Given the description of an element on the screen output the (x, y) to click on. 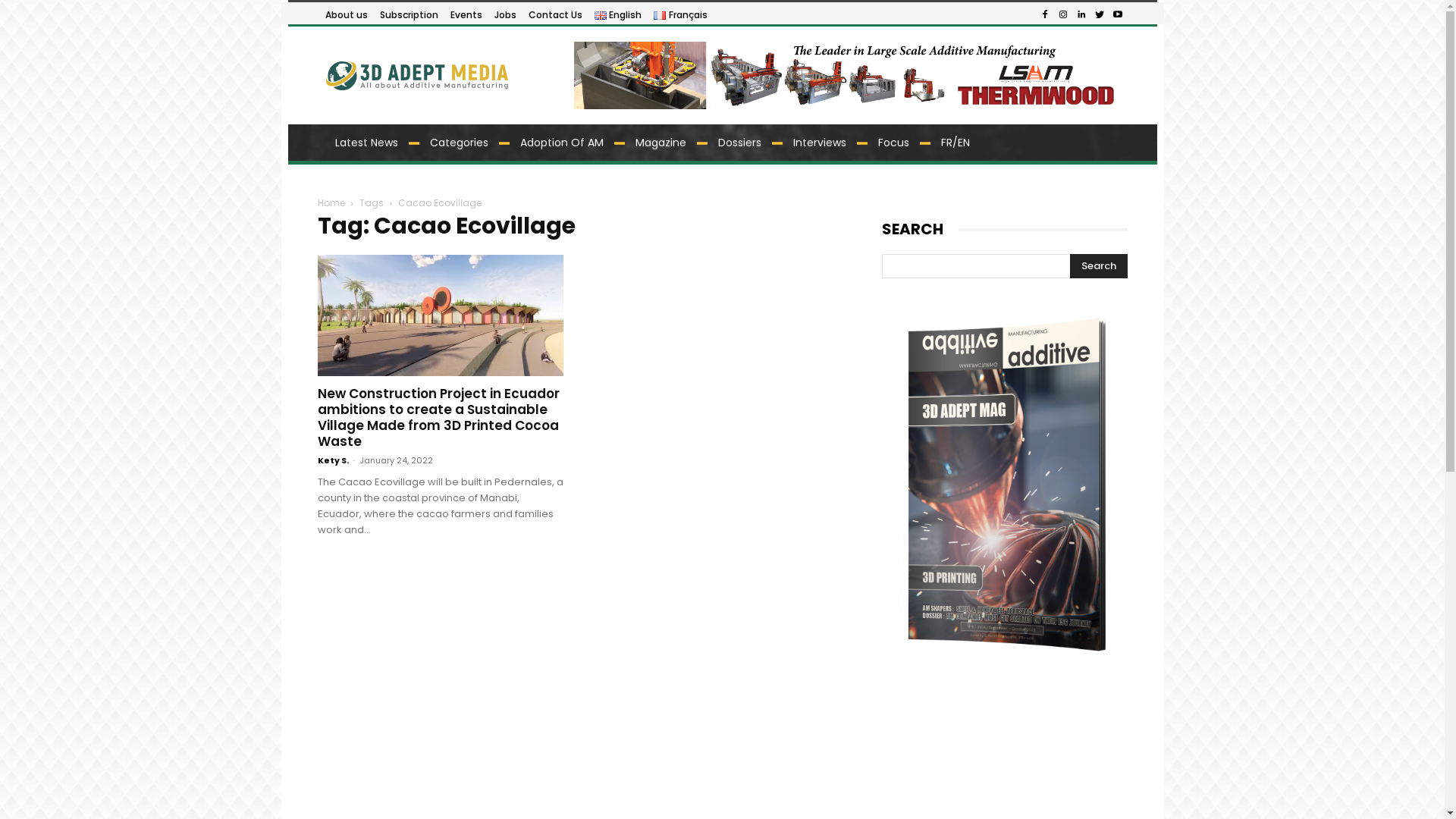
Instagram Element type: hover (1063, 15)
Categories Element type: text (458, 142)
Twitter Element type: hover (1099, 15)
Interviews Element type: text (819, 142)
Adoption Of AM Element type: text (561, 142)
Search Element type: text (1097, 266)
Facebook Element type: hover (1044, 15)
Focus Element type: text (893, 142)
Magazine Element type: text (660, 142)
Subscription Element type: text (408, 14)
Contact Us Element type: text (554, 14)
Home Element type: text (330, 202)
English Element type: text (618, 14)
3DAdeptBanner_rv1 Element type: hover (847, 75)
FR/EN Element type: text (954, 142)
Jobs Element type: text (505, 14)
Kety S. Element type: text (332, 460)
Linkedin Element type: hover (1081, 15)
Dossiers Element type: text (738, 142)
About us Element type: text (345, 14)
Latest News Element type: text (366, 142)
Youtube Element type: hover (1117, 15)
Events Element type: text (466, 14)
